Given the description of an element on the screen output the (x, y) to click on. 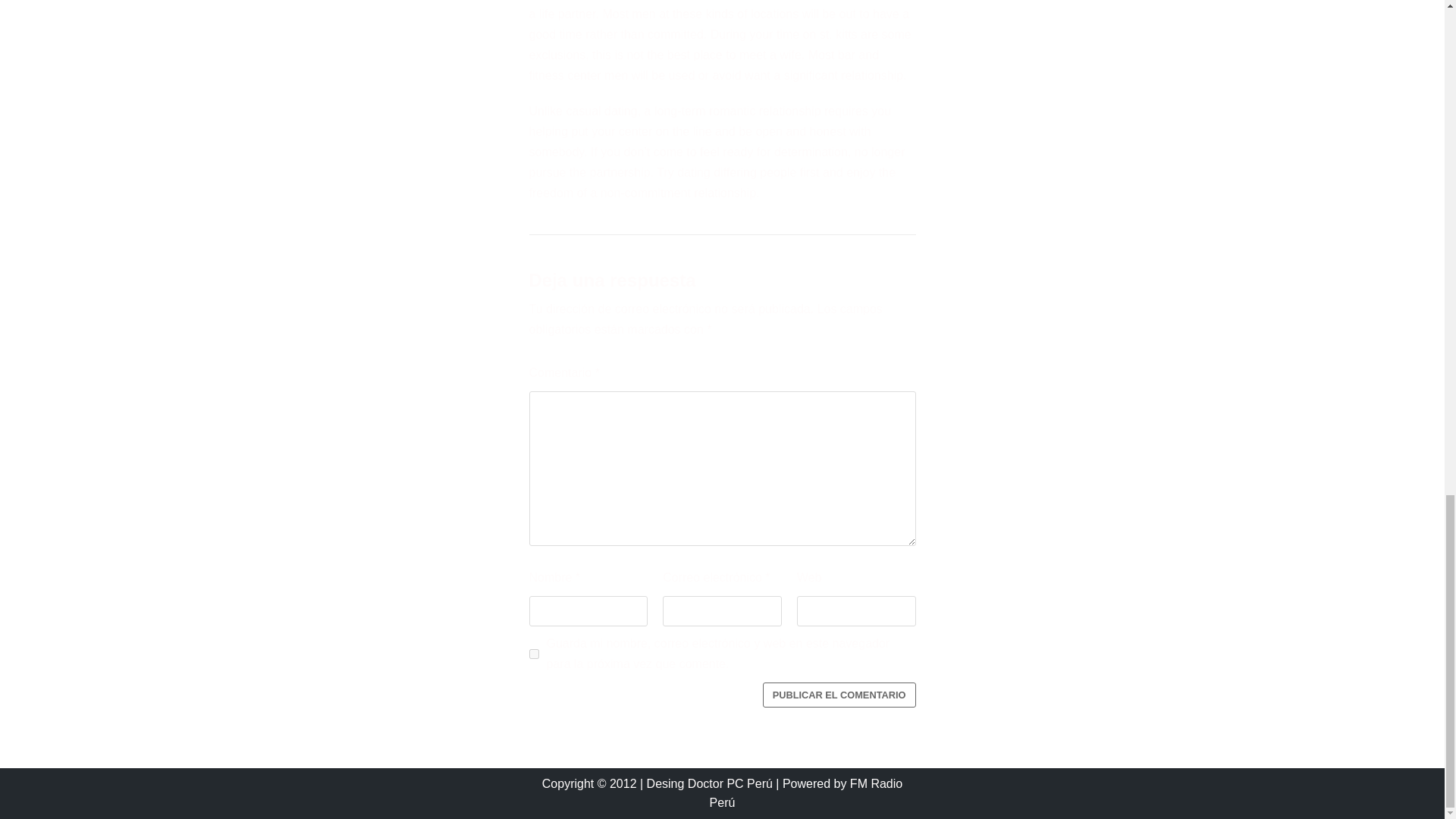
yes (533, 654)
Publicar el comentario (838, 694)
Publicar el comentario (838, 694)
